Given the description of an element on the screen output the (x, y) to click on. 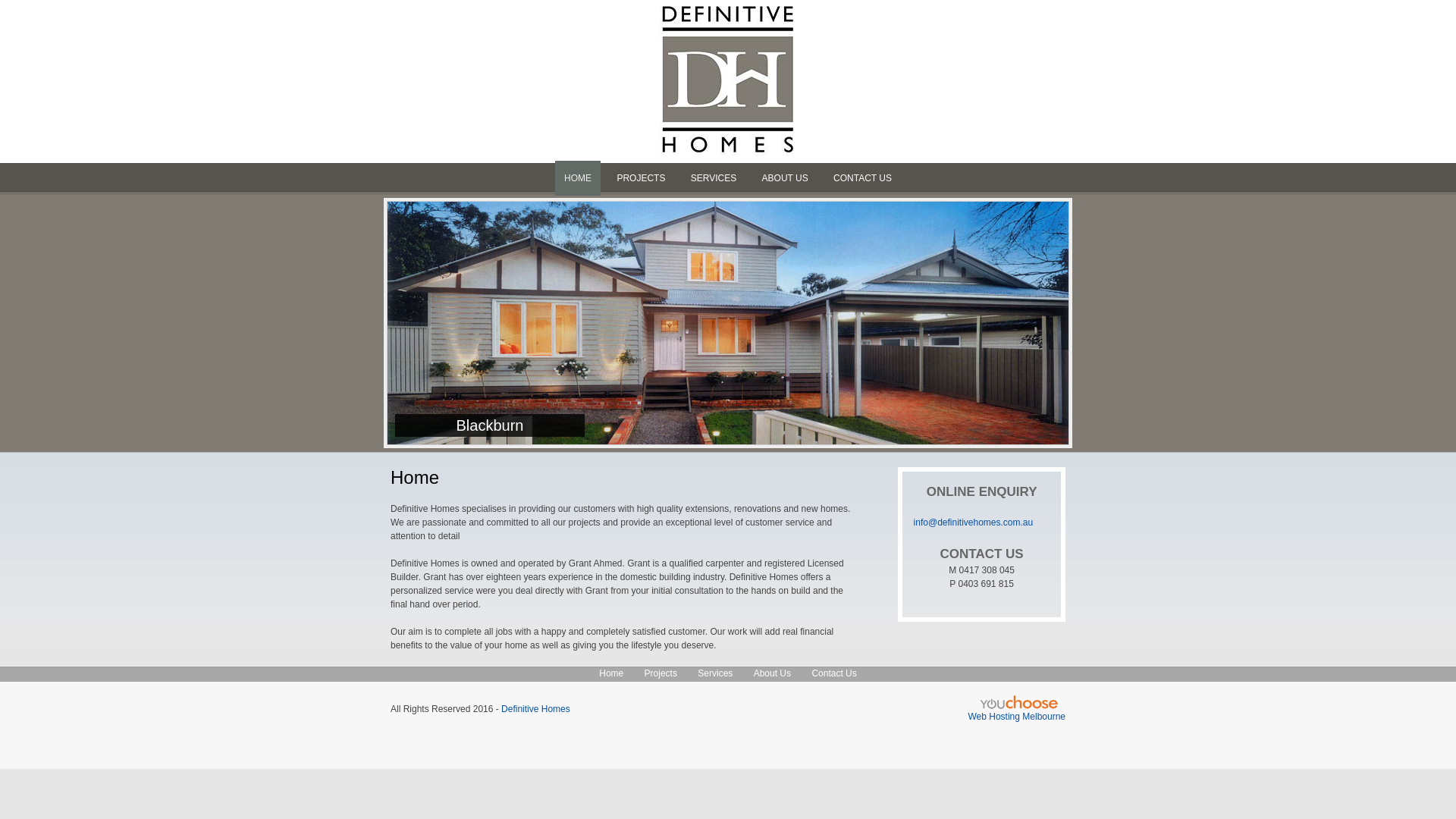
About Us Element type: text (771, 673)
Definitive Homes Element type: text (535, 708)
PROJECTS Element type: text (640, 177)
HOME Element type: text (577, 177)
2 Element type: text (710, 213)
3 Element type: text (727, 213)
Web Hosting Melbourne Element type: text (1016, 716)
info@definitivehomes.com.au Element type: text (973, 522)
ABOUT US Element type: text (785, 177)
Contact Us Element type: text (833, 673)
4 Element type: text (745, 213)
Projects Element type: text (660, 673)
CONTACT US Element type: text (862, 177)
1 Element type: text (692, 213)
5 Element type: text (762, 213)
SERVICES Element type: text (713, 177)
Home Element type: text (611, 673)
Services Element type: text (714, 673)
